Given the description of an element on the screen output the (x, y) to click on. 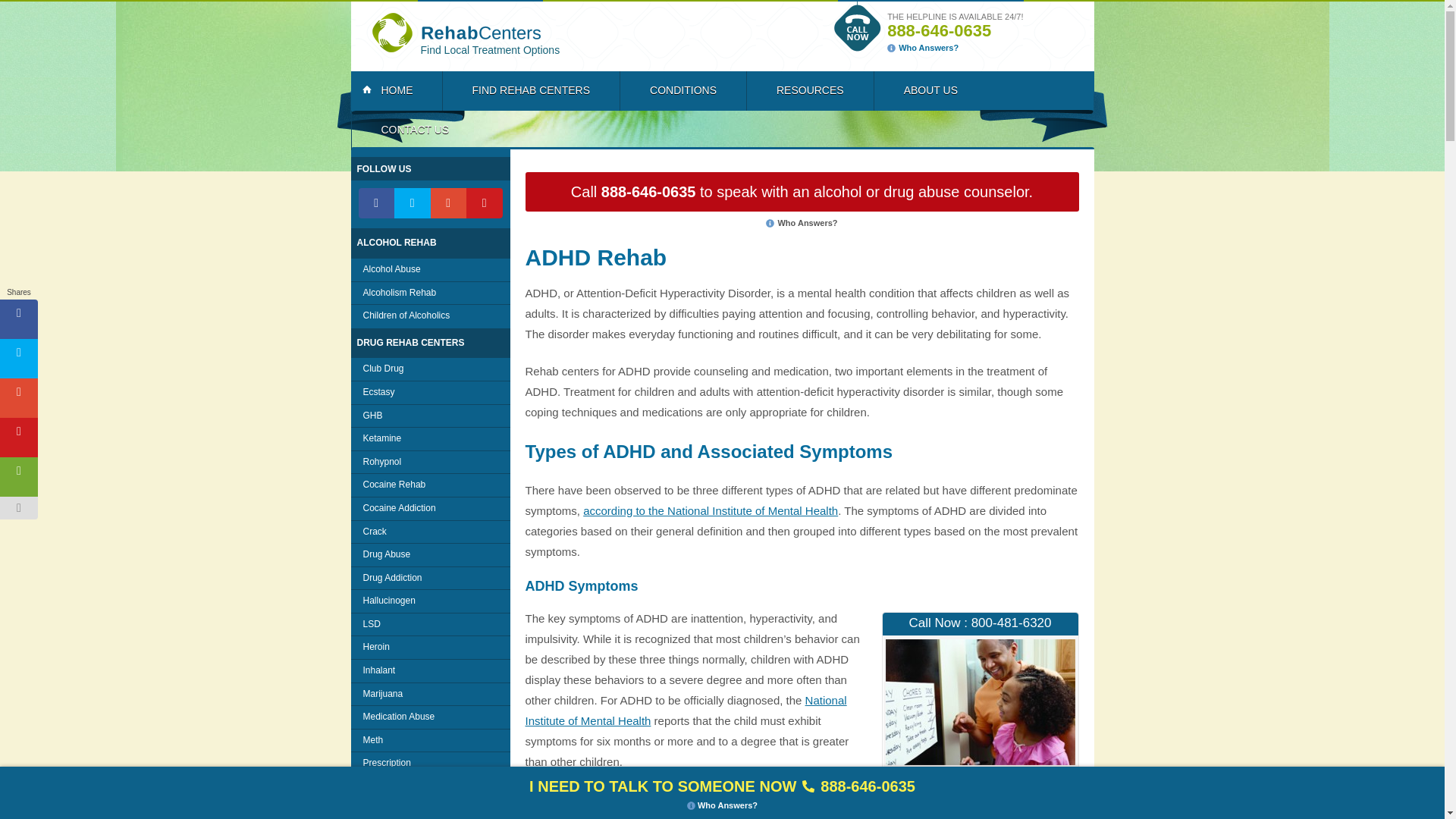
Ketamine (429, 438)
RESOURCES (809, 90)
Inhalant (429, 670)
Medication Abuse (429, 716)
Children of Alcoholics (429, 315)
Ecstasy (429, 392)
Drug Addiction (429, 577)
CONDITIONS (682, 90)
Drug Abuse (429, 554)
ABOUT US (930, 90)
Alcohol Abuse (429, 269)
Cocaine Rehab (429, 484)
Benzodiazepine (429, 808)
Club Drug (429, 368)
DRUG REHAB CENTERS (429, 342)
